Given the description of an element on the screen output the (x, y) to click on. 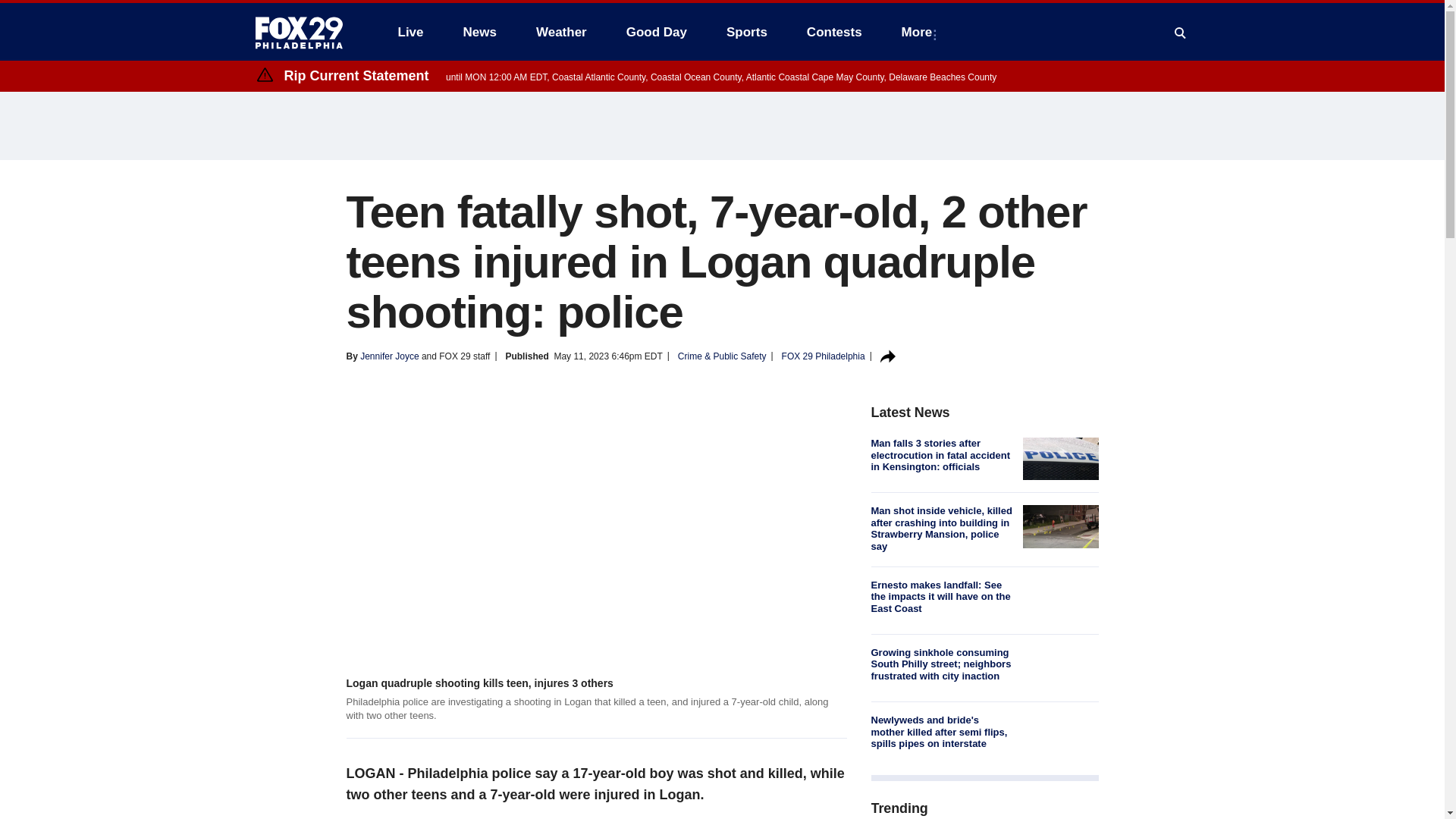
News (479, 32)
Sports (746, 32)
Weather (561, 32)
Contests (834, 32)
Good Day (656, 32)
More (919, 32)
Live (410, 32)
